Given the description of an element on the screen output the (x, y) to click on. 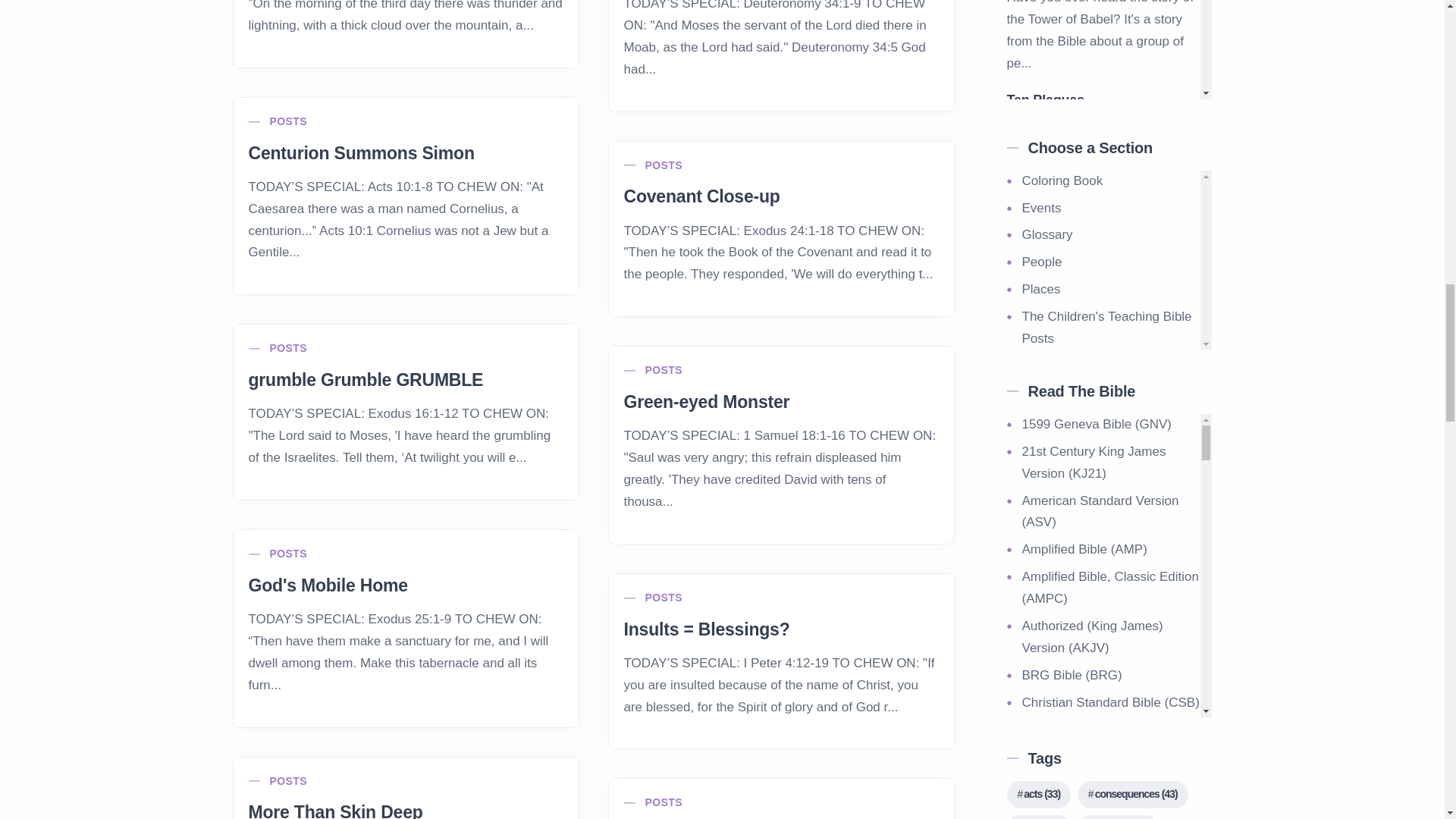
39 topics (1039, 816)
43 topics (1132, 794)
39 topics (1117, 816)
33 topics (1039, 794)
